Given the description of an element on the screen output the (x, y) to click on. 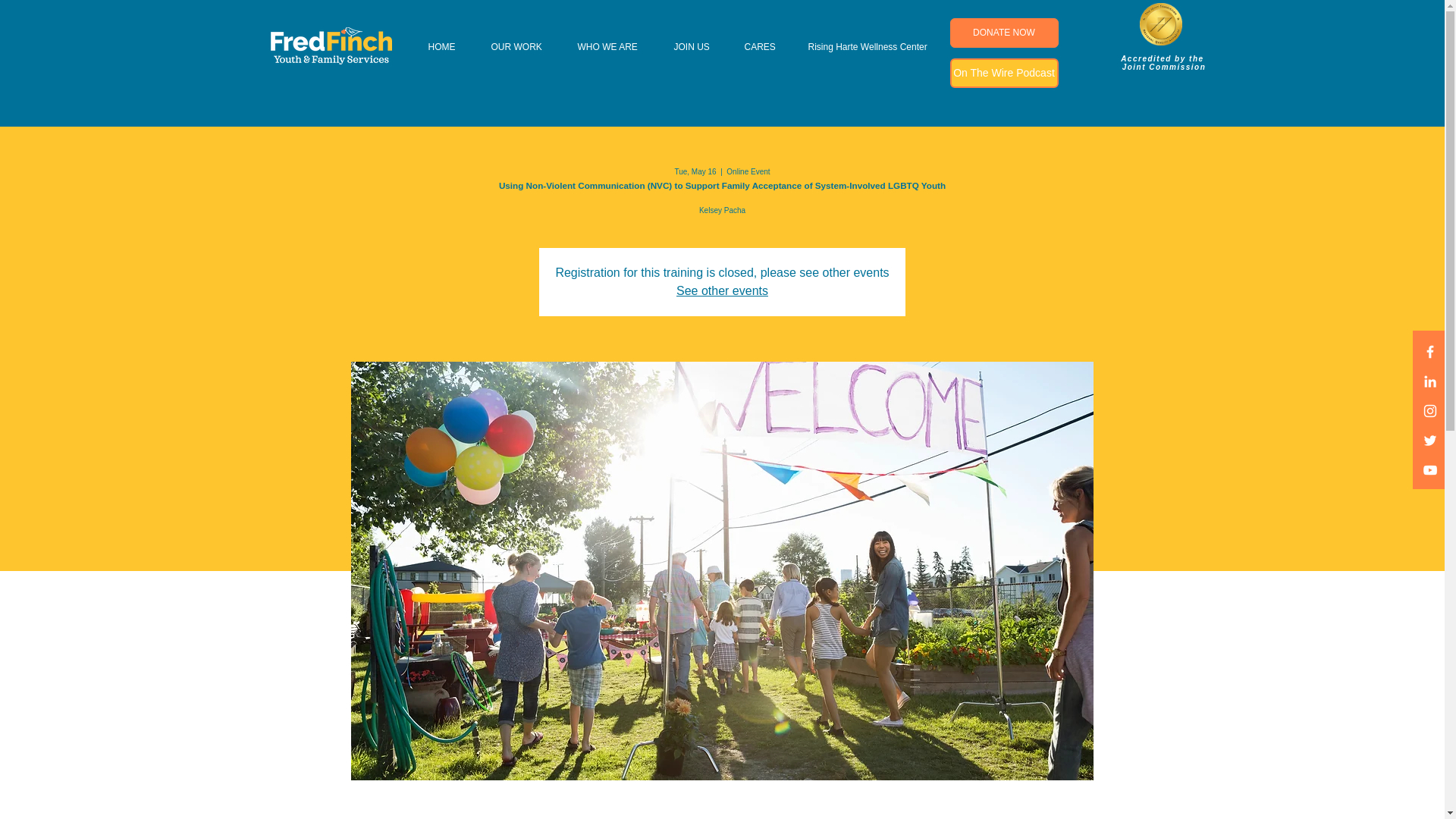
See other events (722, 290)
CARES (764, 47)
JOIN US (697, 47)
On The Wire Podcast (1003, 72)
Rising Harte Wellness Center (874, 47)
DONATE NOW (1003, 32)
HOME (448, 47)
OUR WORK (522, 47)
WHO WE ARE (614, 47)
